Given the description of an element on the screen output the (x, y) to click on. 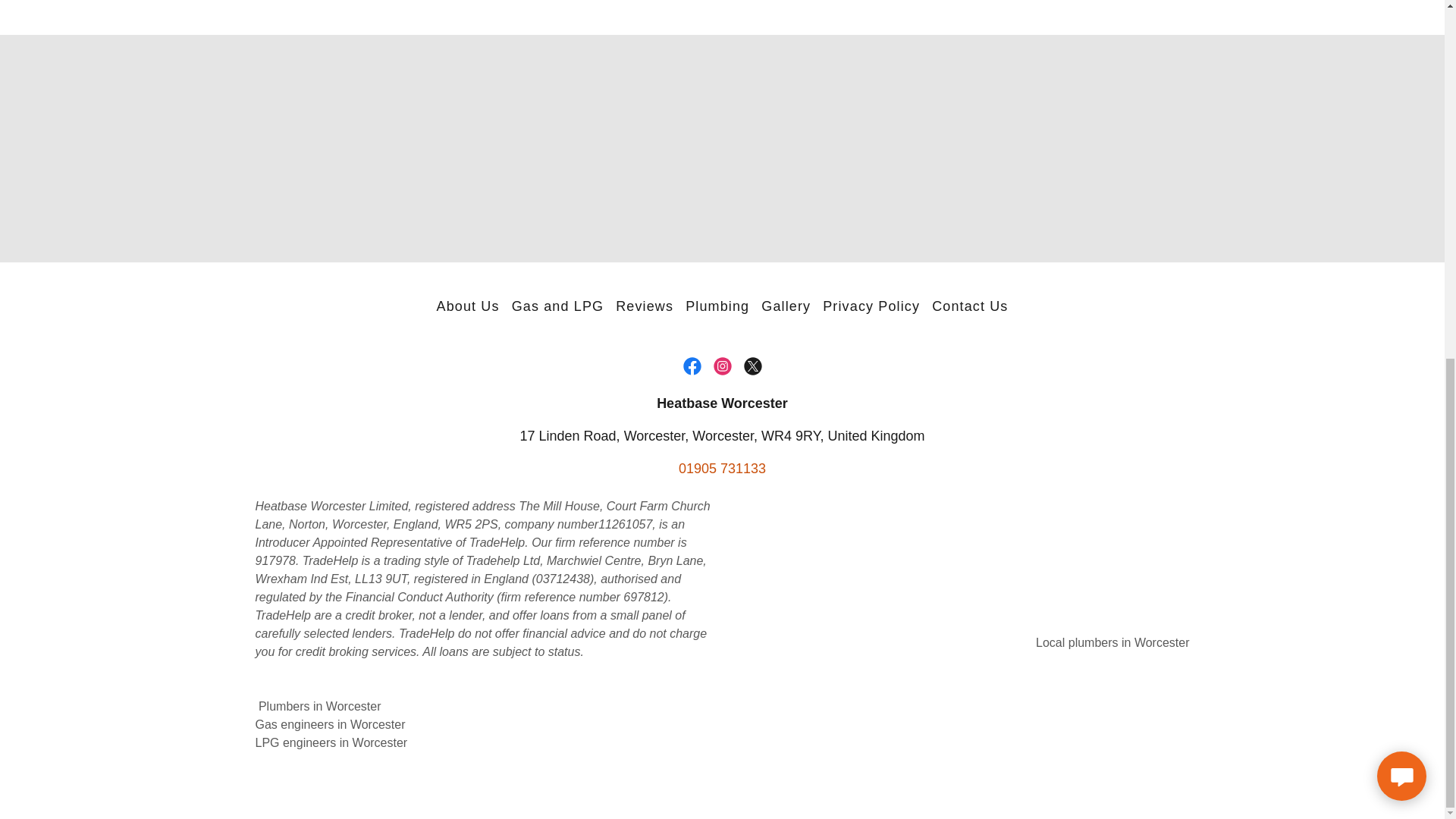
About Us (467, 306)
Gallery (785, 306)
Contact Us (969, 306)
Gas and LPG (557, 306)
Plumbing (717, 306)
Privacy Policy (871, 306)
Reviews (644, 306)
